Given the description of an element on the screen output the (x, y) to click on. 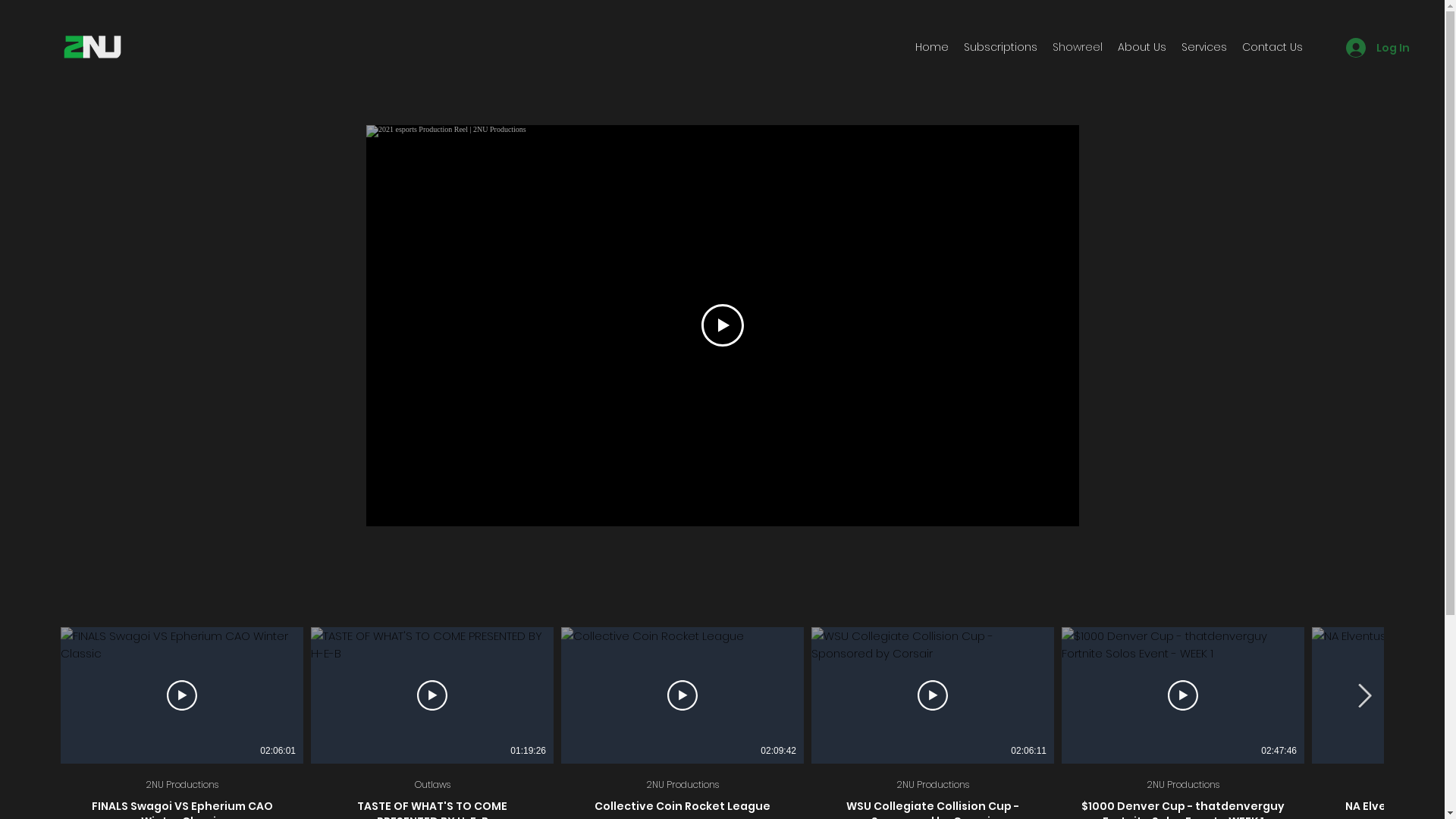
About Us Element type: text (1141, 46)
Home Element type: text (931, 46)
Log In Element type: text (1367, 47)
Services Element type: text (1203, 46)
Showreel Element type: text (1077, 46)
Contact Us Element type: text (1272, 46)
Subscriptions Element type: text (1000, 46)
